Given the description of an element on the screen output the (x, y) to click on. 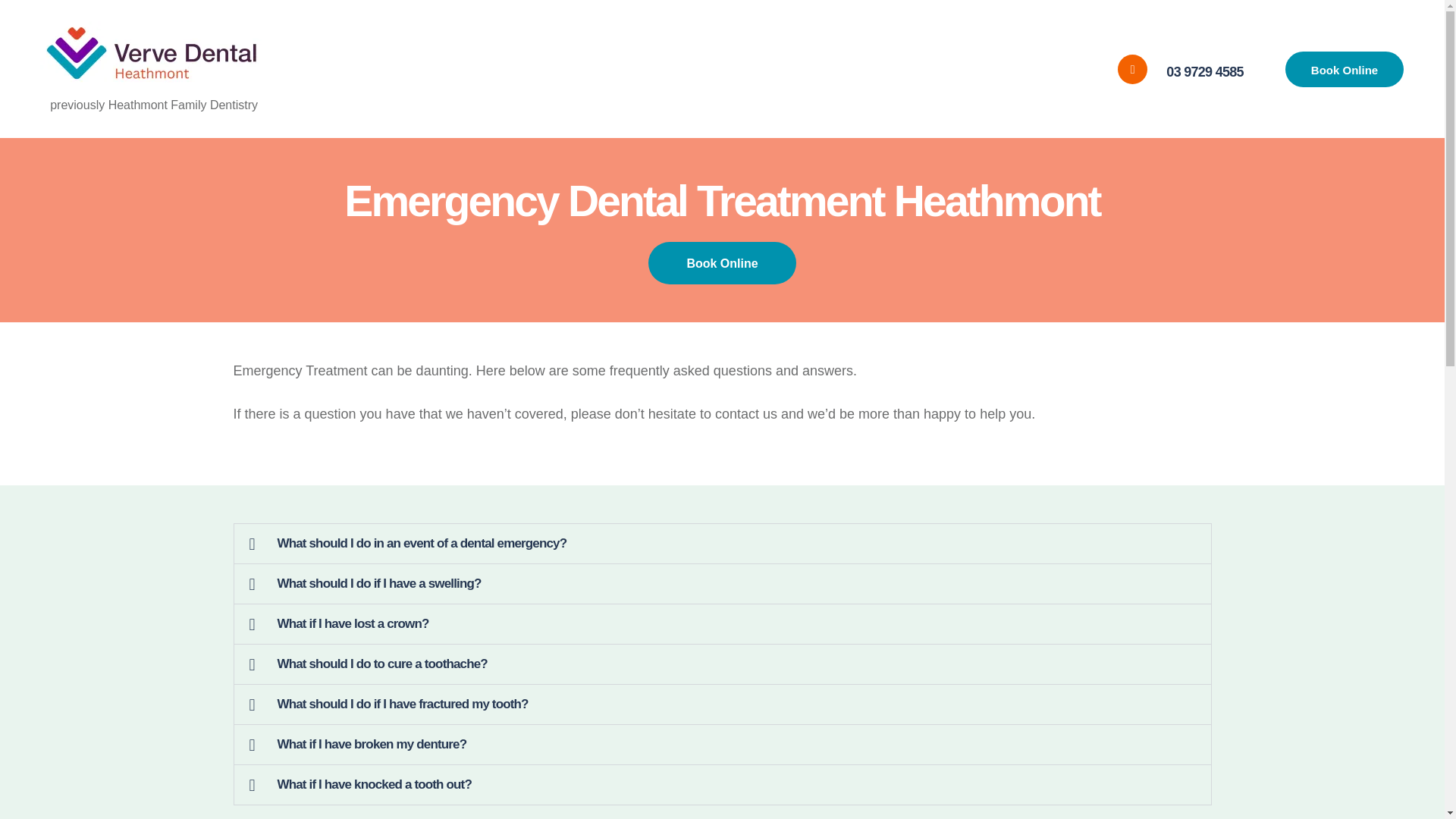
03 9729 4585 (1180, 69)
Book Online (1344, 68)
